Given the description of an element on the screen output the (x, y) to click on. 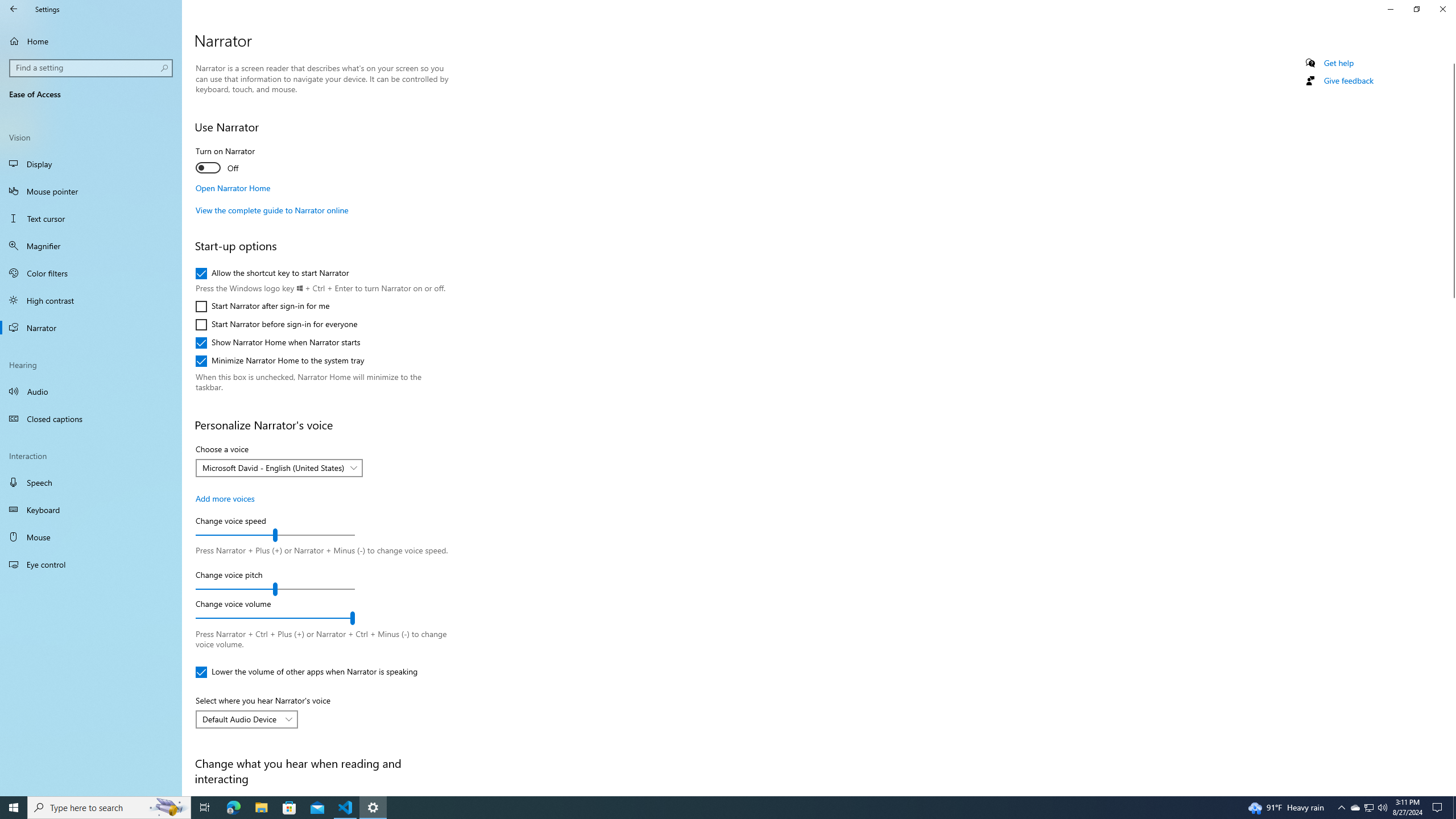
Audio (91, 390)
Change voice pitch (275, 588)
Speech (91, 482)
Microsoft David - English (United States) (273, 467)
Select where you hear Narrator's voice (246, 719)
Settings - 1 running window (373, 807)
Turn on Narrator (237, 160)
Minimize Settings (1390, 9)
Get help (1338, 62)
